Given the description of an element on the screen output the (x, y) to click on. 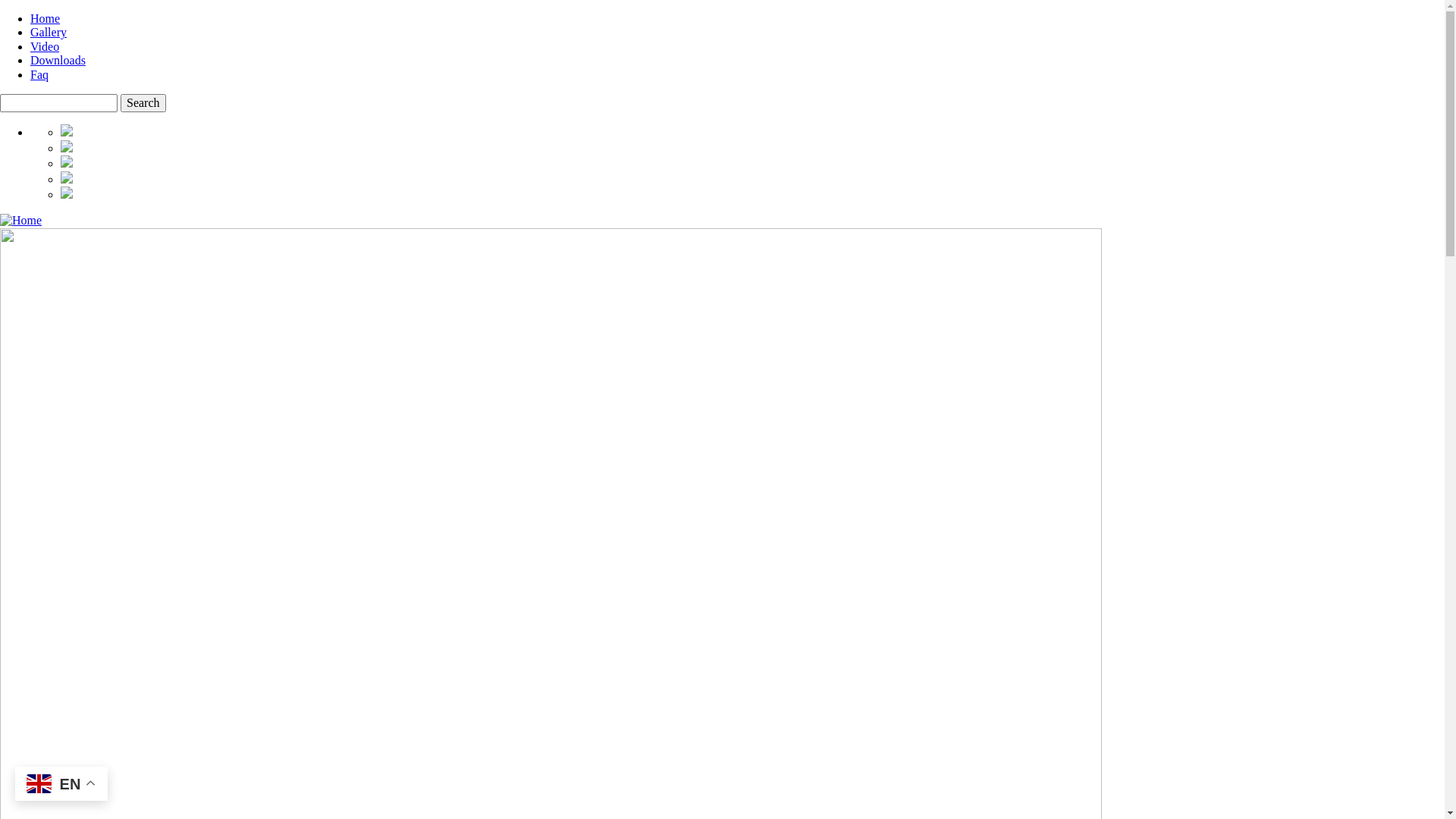
Gallery Element type: text (48, 31)
Facebook Element type: hover (66, 194)
Linkedin Element type: hover (66, 147)
Home Element type: text (44, 18)
Search Element type: text (143, 103)
Downloads Element type: text (57, 59)
Video Element type: text (44, 46)
X Element type: hover (66, 131)
Faq Element type: text (39, 74)
Enter the terms you wish to search for. Element type: hover (58, 103)
Home Element type: hover (20, 219)
Skip to main content Element type: text (0, 12)
Skype Element type: hover (66, 162)
Youtube Element type: hover (66, 178)
